Given the description of an element on the screen output the (x, y) to click on. 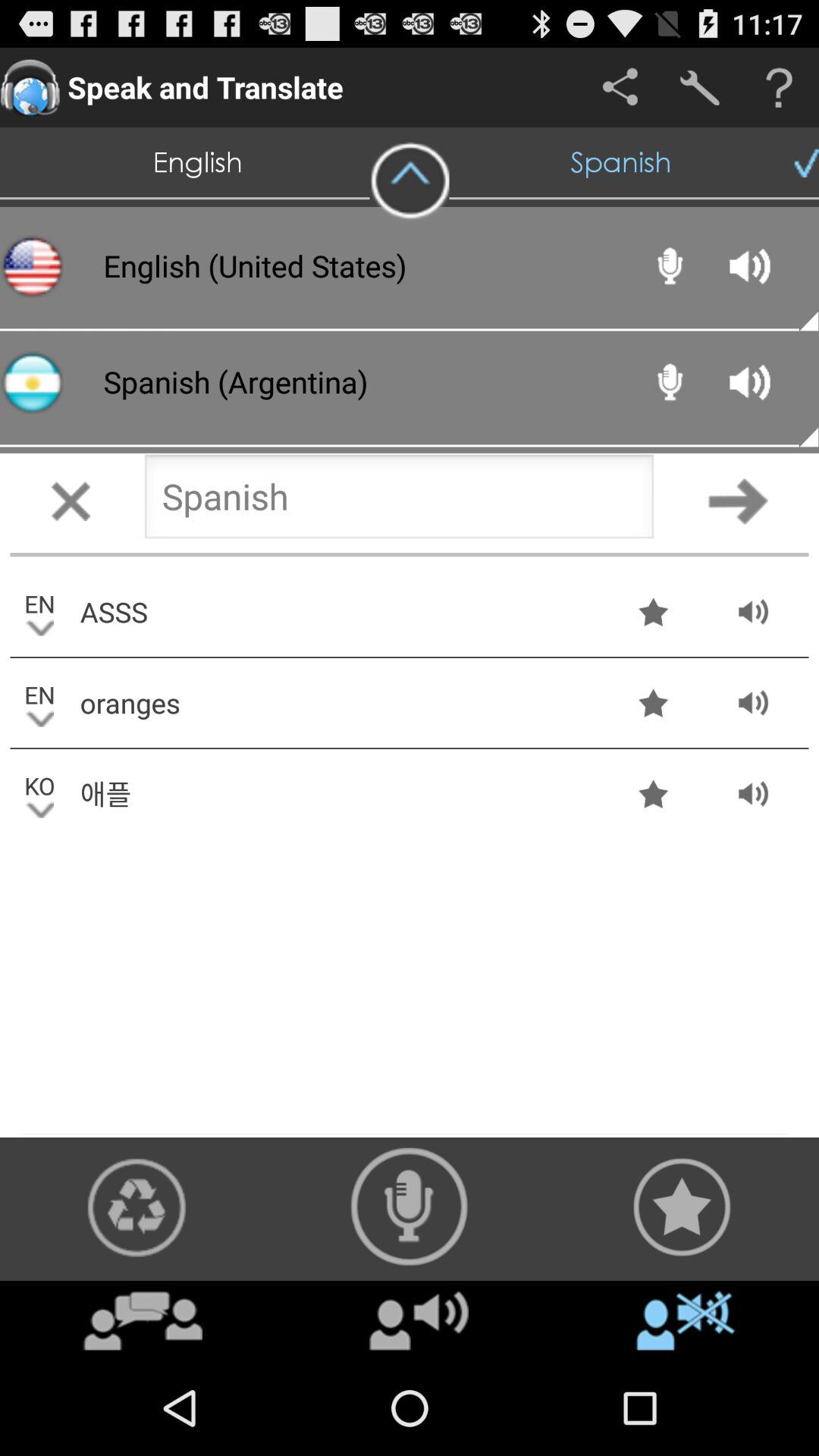
turn on icon to the right of the english (409, 181)
